Given the description of an element on the screen output the (x, y) to click on. 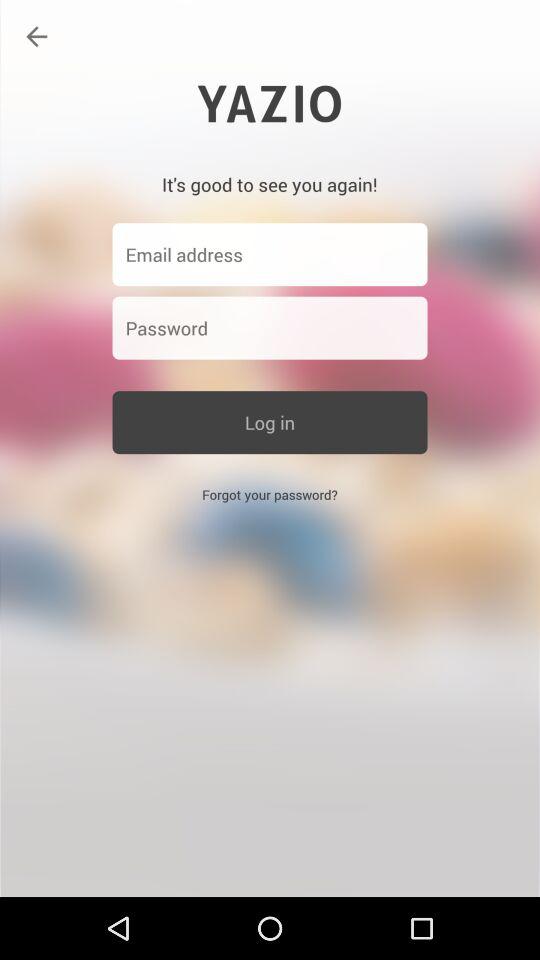
enter email address (269, 254)
